Given the description of an element on the screen output the (x, y) to click on. 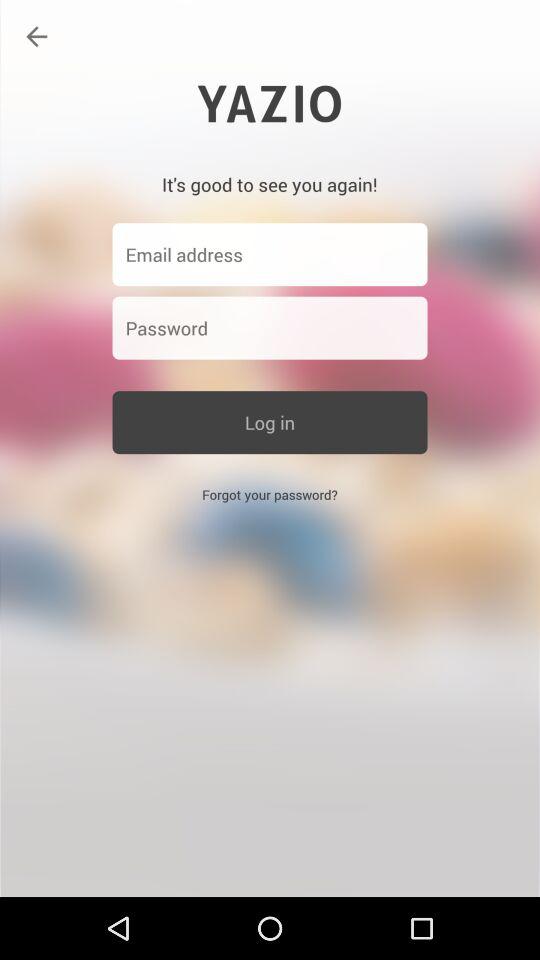
enter email address (269, 254)
